Given the description of an element on the screen output the (x, y) to click on. 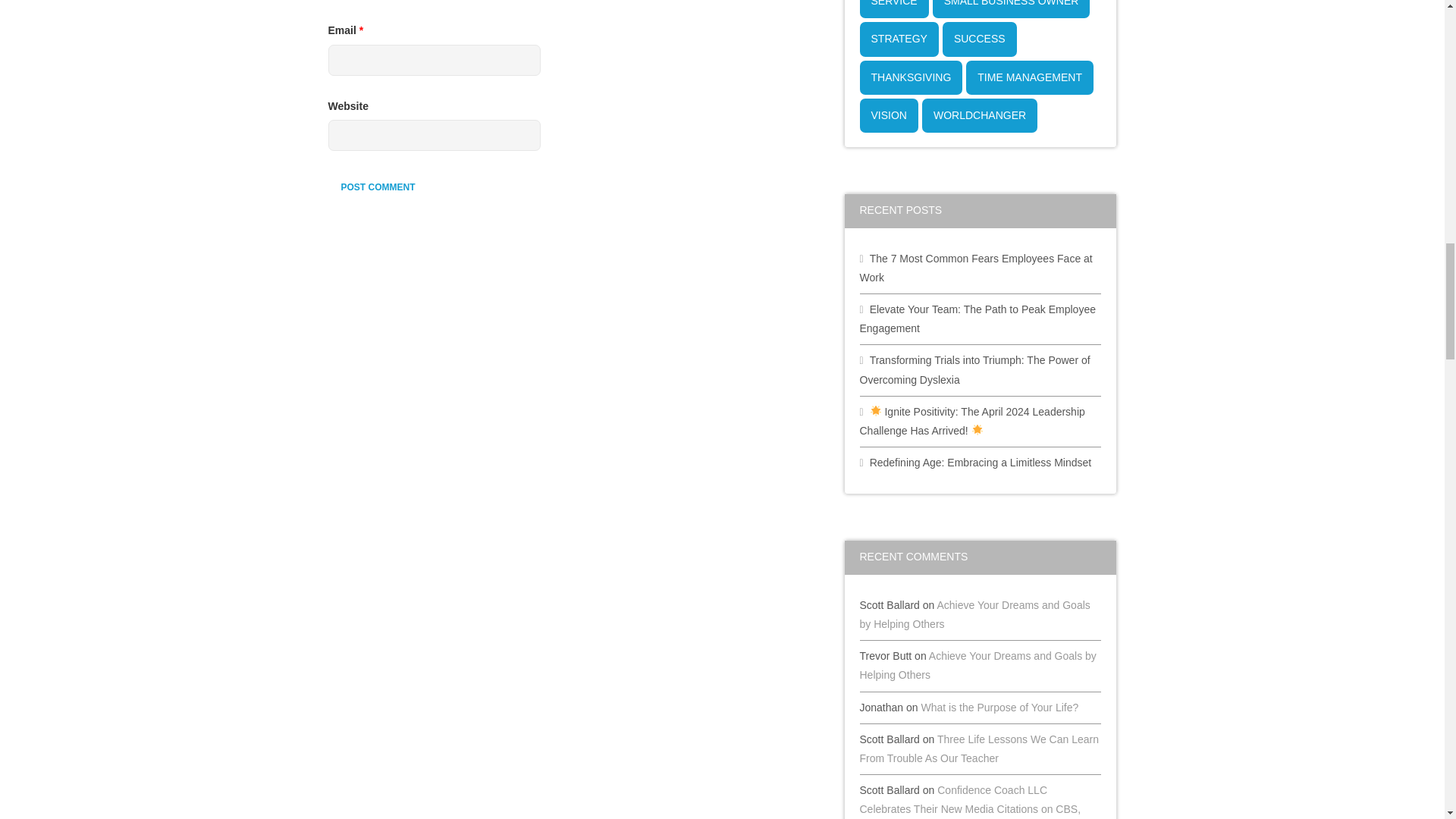
Post Comment (377, 187)
Post Comment (377, 187)
